Given the description of an element on the screen output the (x, y) to click on. 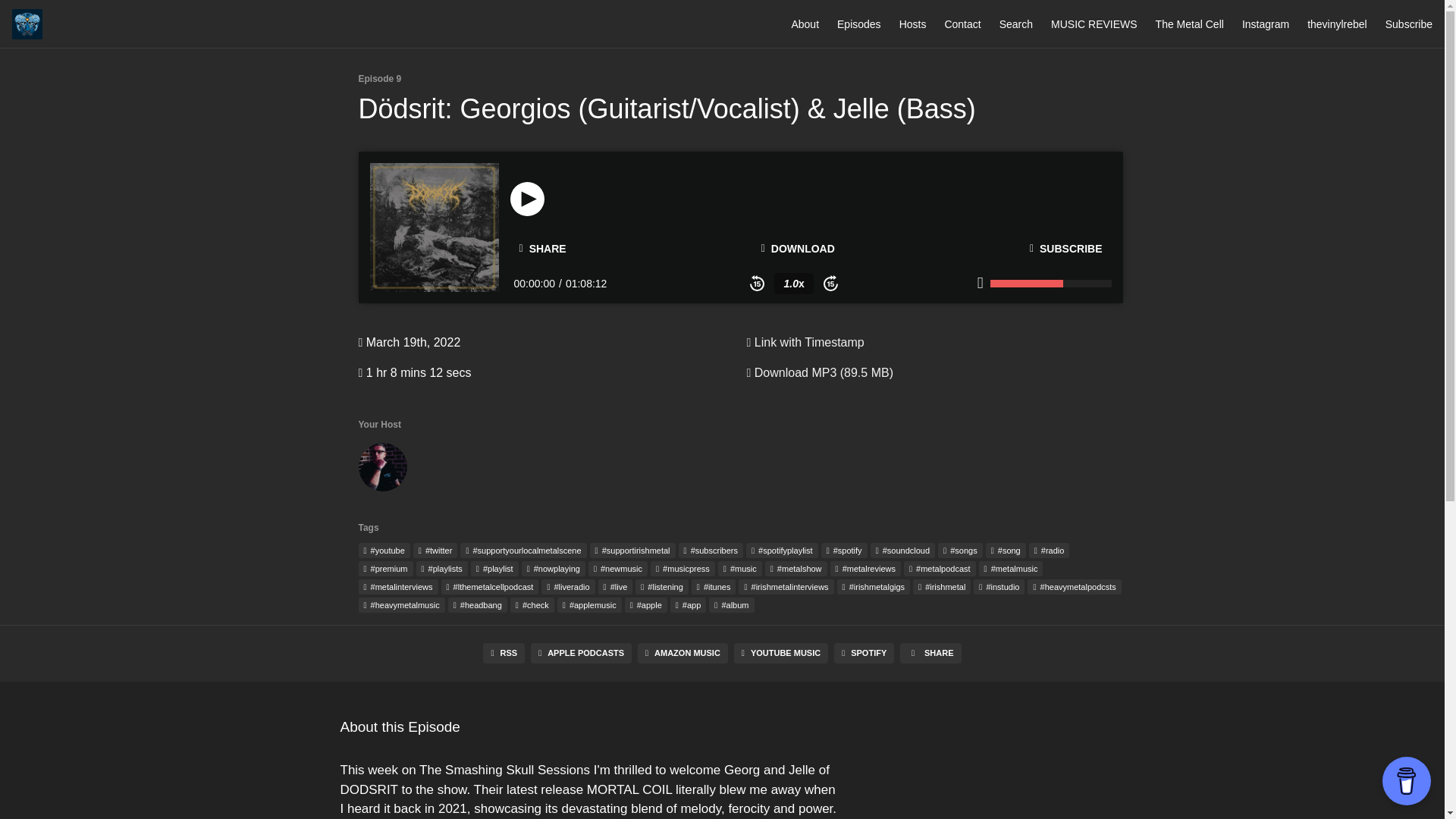
Contact (961, 24)
SHARE (542, 248)
Search (1015, 24)
thevinylrebel (1337, 24)
MUSIC REVIEWS (1094, 24)
SUBSCRIBE (1066, 248)
The Metal Cell (1190, 24)
Link with Timestamp (804, 341)
Hosts (912, 24)
DOWNLOAD (798, 248)
